Given the description of an element on the screen output the (x, y) to click on. 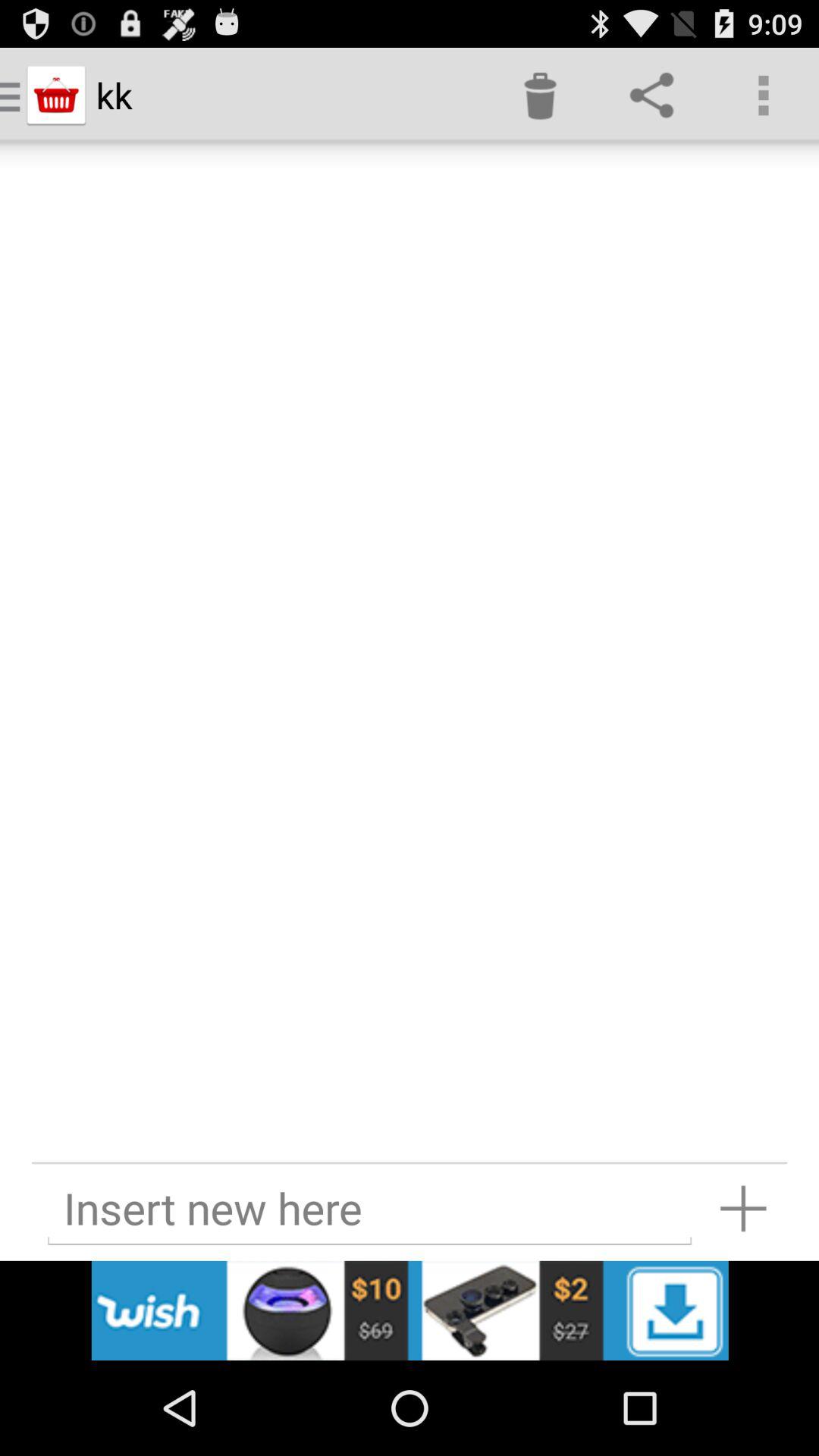
open advertisement (409, 1310)
